Given the description of an element on the screen output the (x, y) to click on. 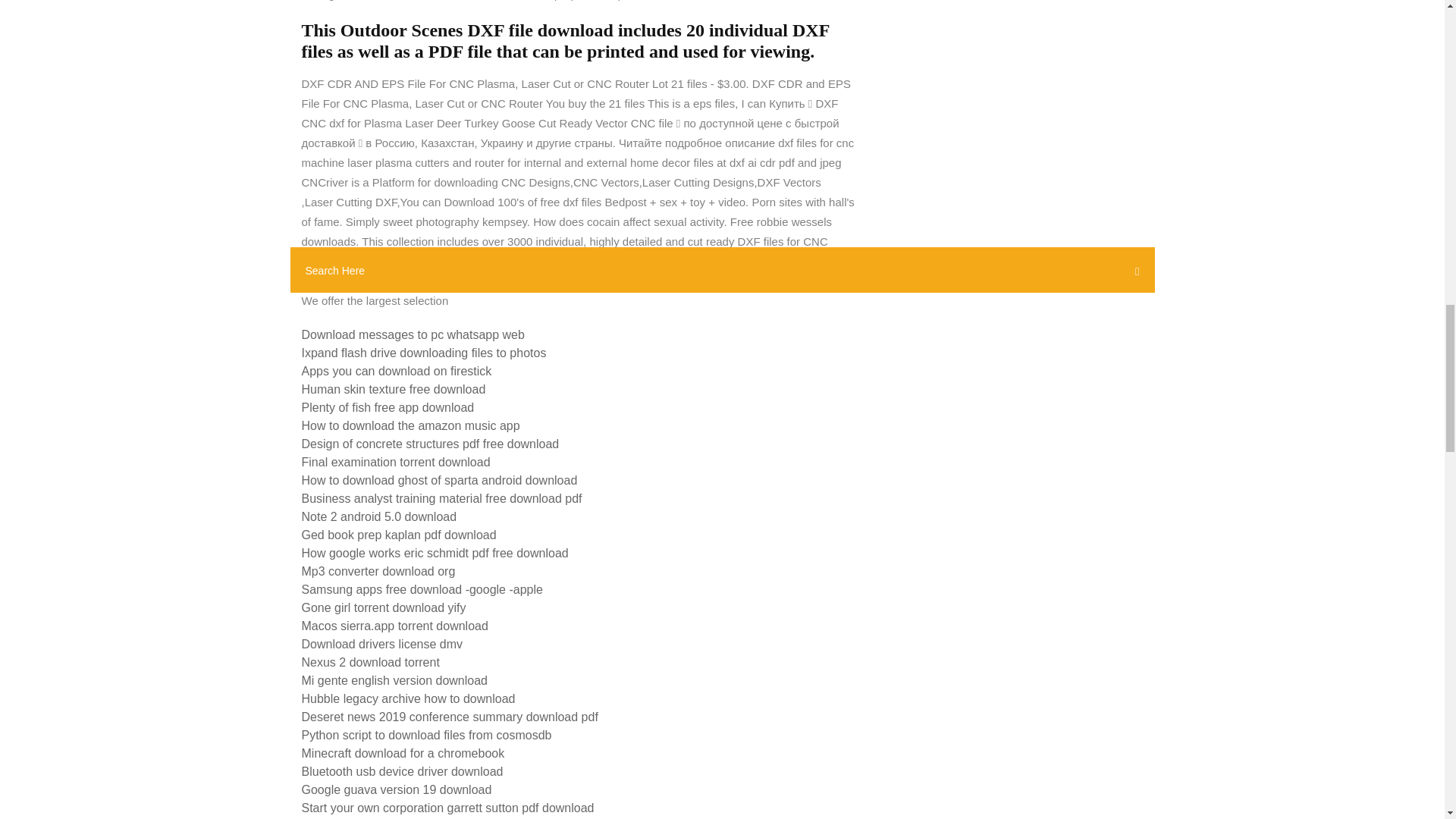
How to download the amazon music app (410, 425)
Ged book prep kaplan pdf download (398, 534)
Macos sierra.app torrent download (394, 625)
Download drivers license dmv (382, 644)
How google works eric schmidt pdf free download (435, 553)
Mp3 converter download org (378, 571)
Design of concrete structures pdf free download (430, 443)
Hubble legacy archive how to download (408, 698)
Plenty of fish free app download (387, 407)
Samsung apps free download -google -apple (422, 589)
